Given the description of an element on the screen output the (x, y) to click on. 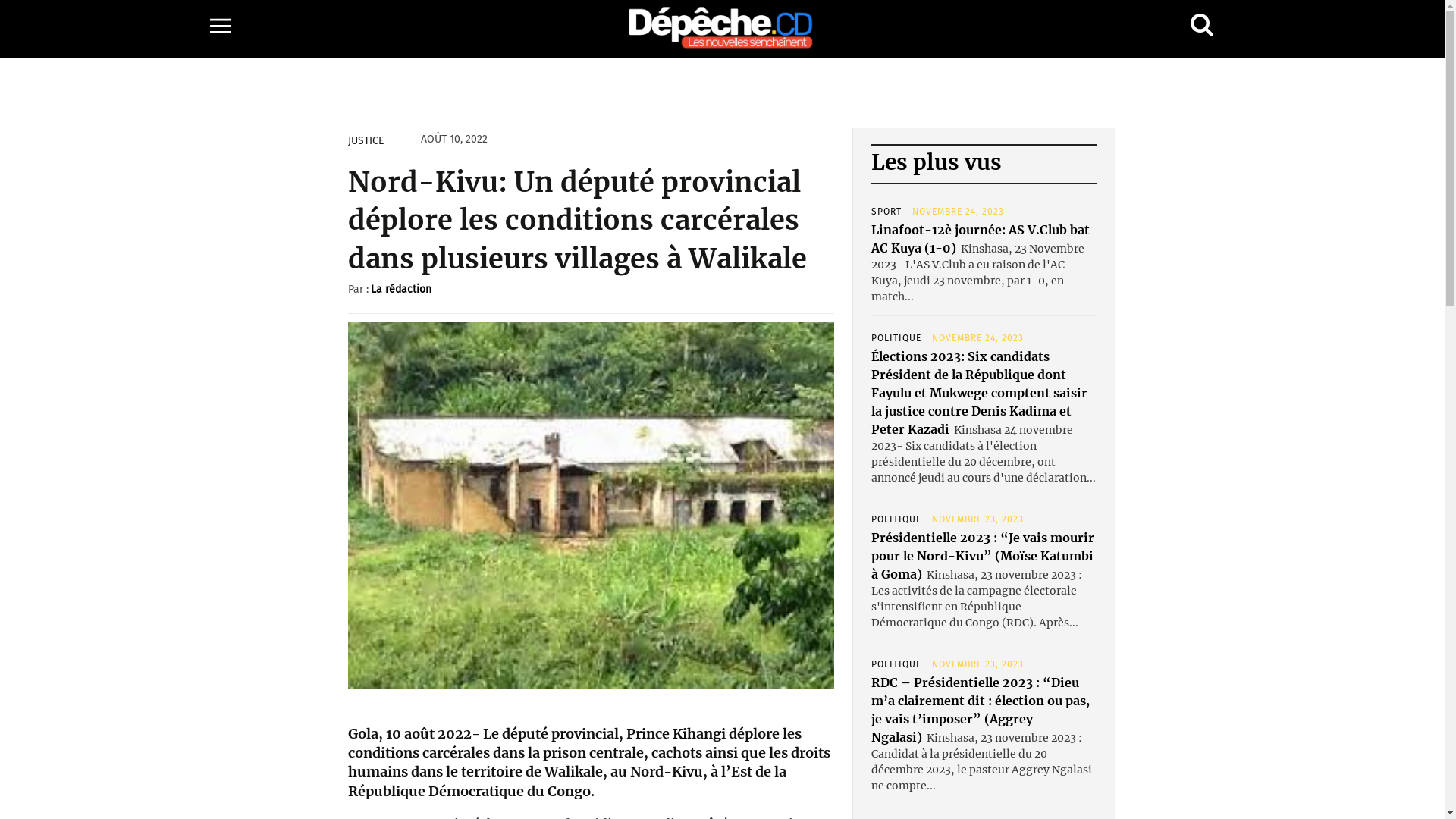
SPORT Element type: text (886, 211)
IMG-20220810-WA0054 Element type: hover (590, 504)
JUSTICE Element type: text (364, 140)
POLITIQUE Element type: text (896, 663)
POLITIQUE Element type: text (896, 519)
POLITIQUE Element type: text (896, 337)
